Given the description of an element on the screen output the (x, y) to click on. 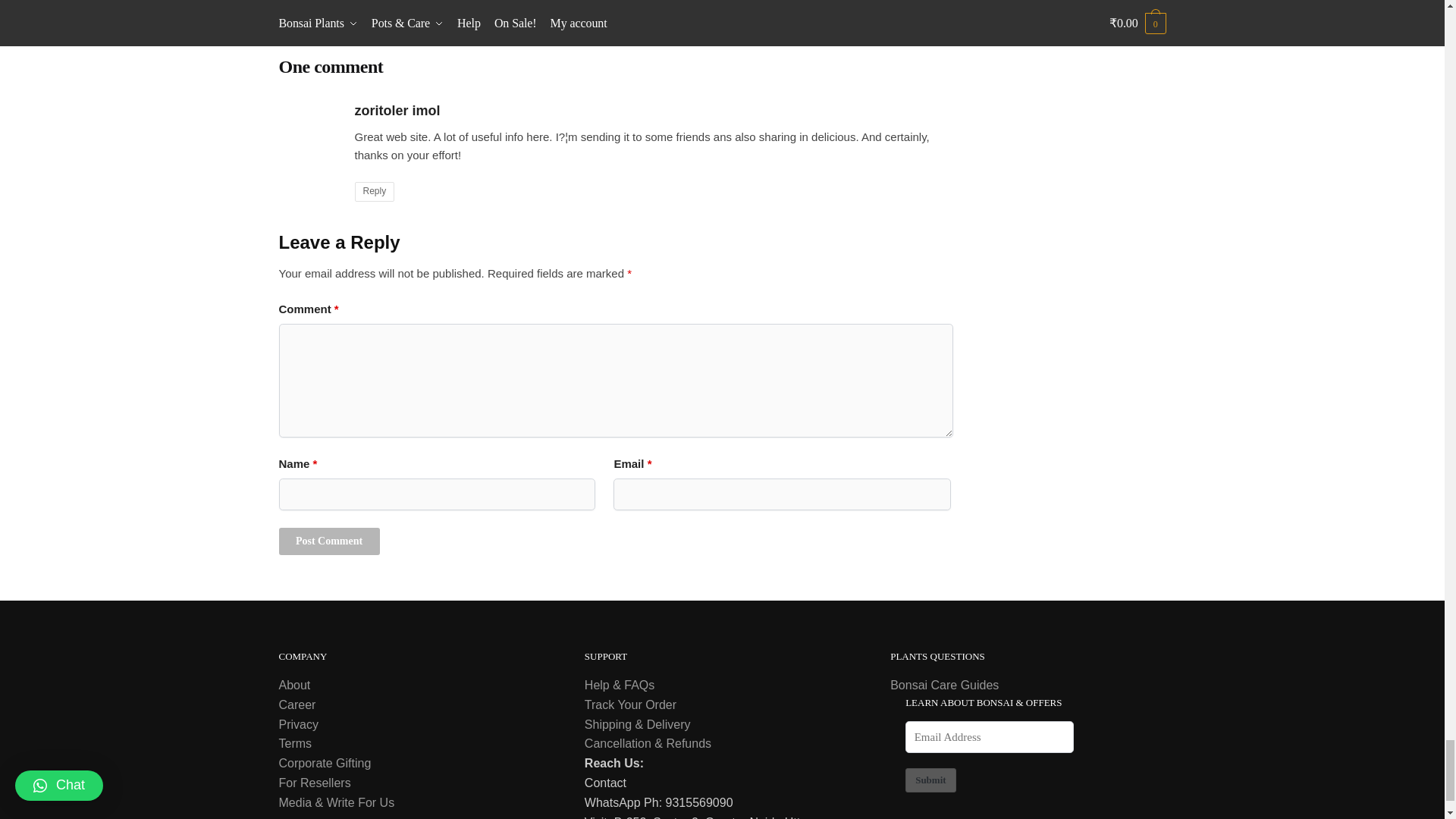
Post Comment (329, 541)
